Given the description of an element on the screen output the (x, y) to click on. 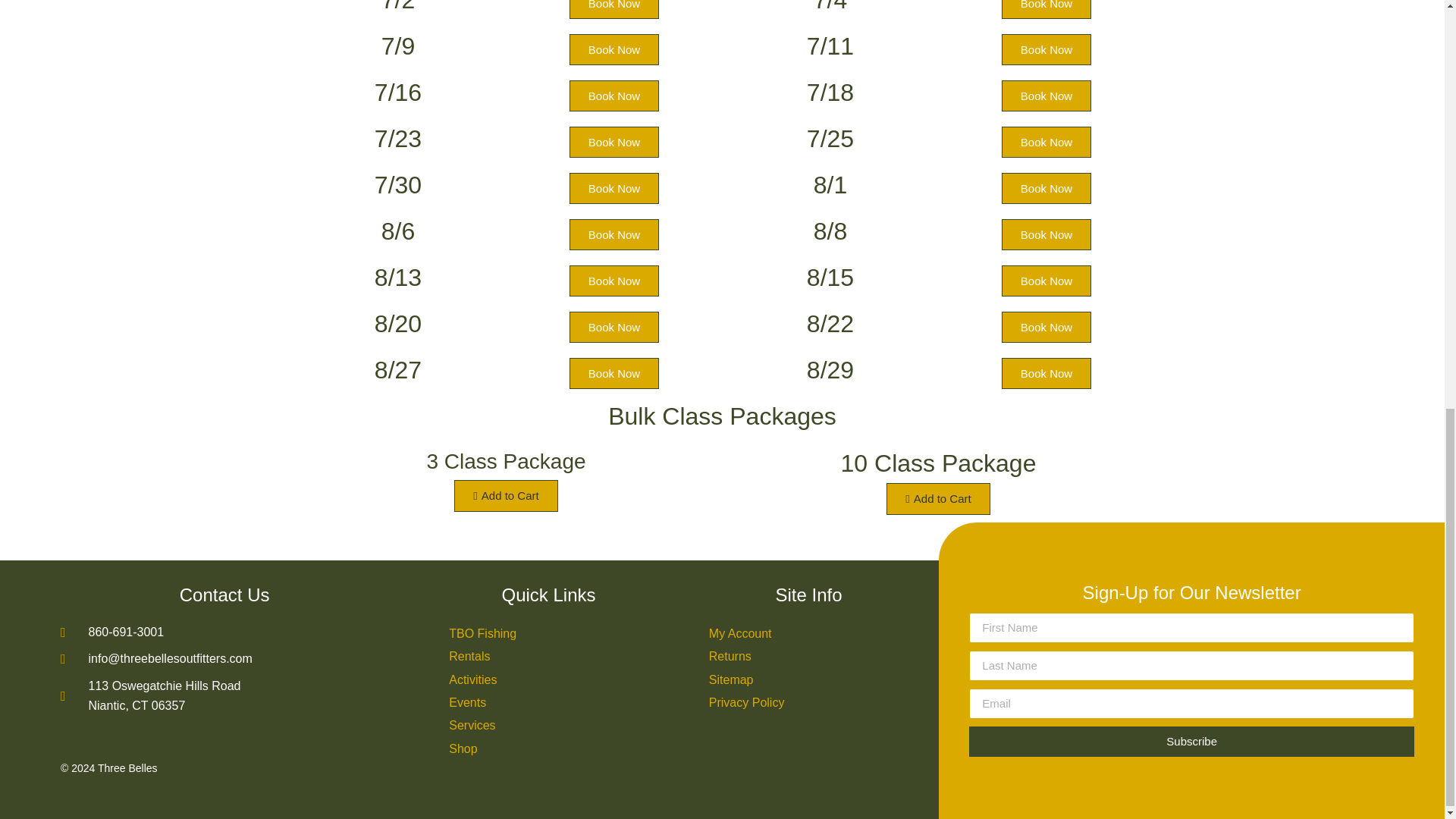
Book Now (614, 49)
Book Now (614, 9)
Book Now (1045, 373)
Book Now (1045, 280)
Book Now (1045, 187)
Add to Cart (938, 499)
Book Now (614, 327)
Book Now (614, 280)
Book Now (1045, 9)
Book Now (614, 142)
Book Now (614, 95)
Book Now (1045, 234)
Book Now (1045, 327)
Book Now (614, 234)
Book Now (1045, 49)
